Given the description of an element on the screen output the (x, y) to click on. 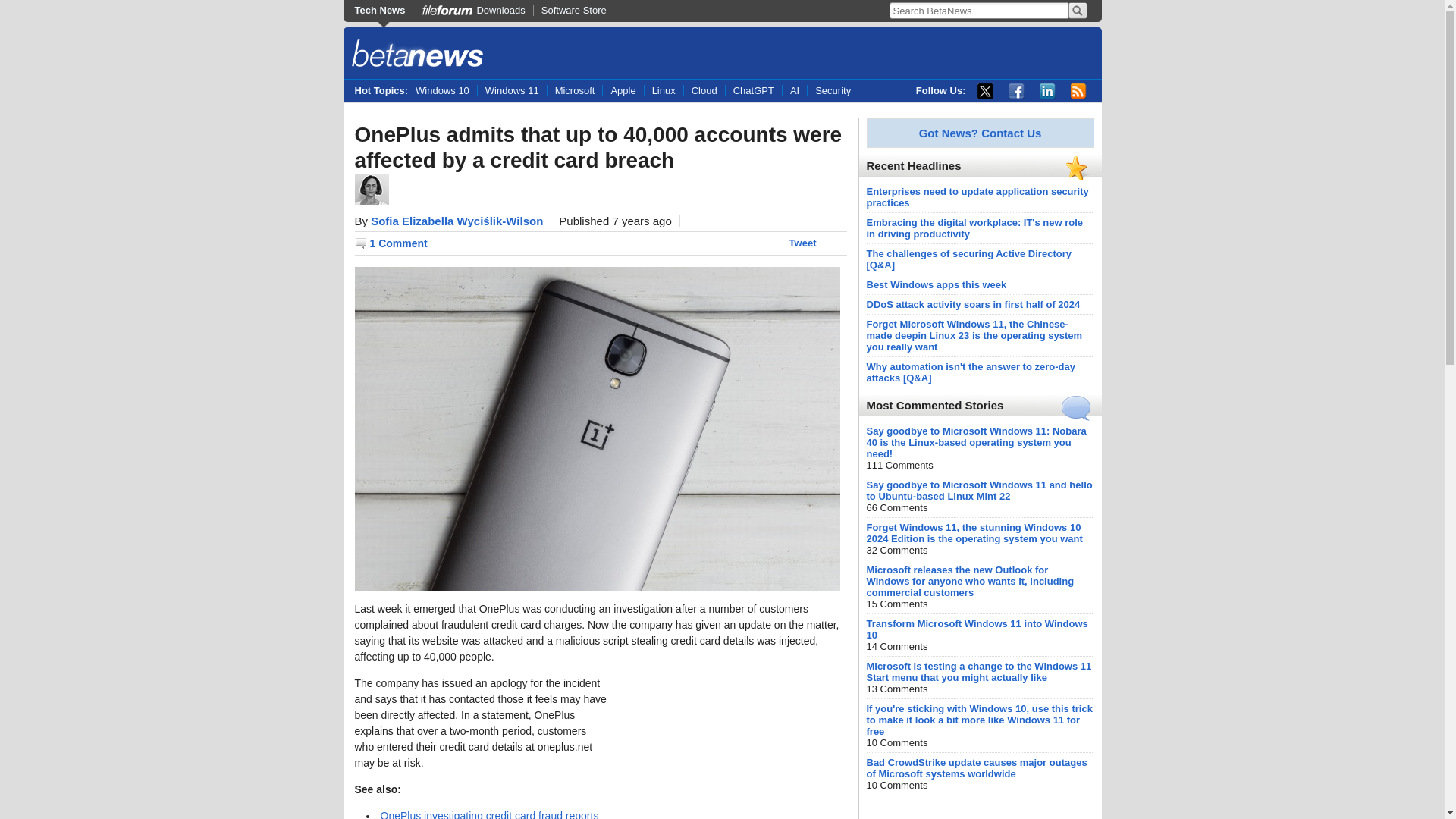
Search (1076, 10)
ChatGPT (753, 90)
1 Comment (391, 242)
RSS (1078, 91)
Search (1076, 10)
Facebook (1017, 91)
Windows 10 (445, 90)
Enterprises need to update application security practices (976, 196)
RSS (1078, 91)
